Given the description of an element on the screen output the (x, y) to click on. 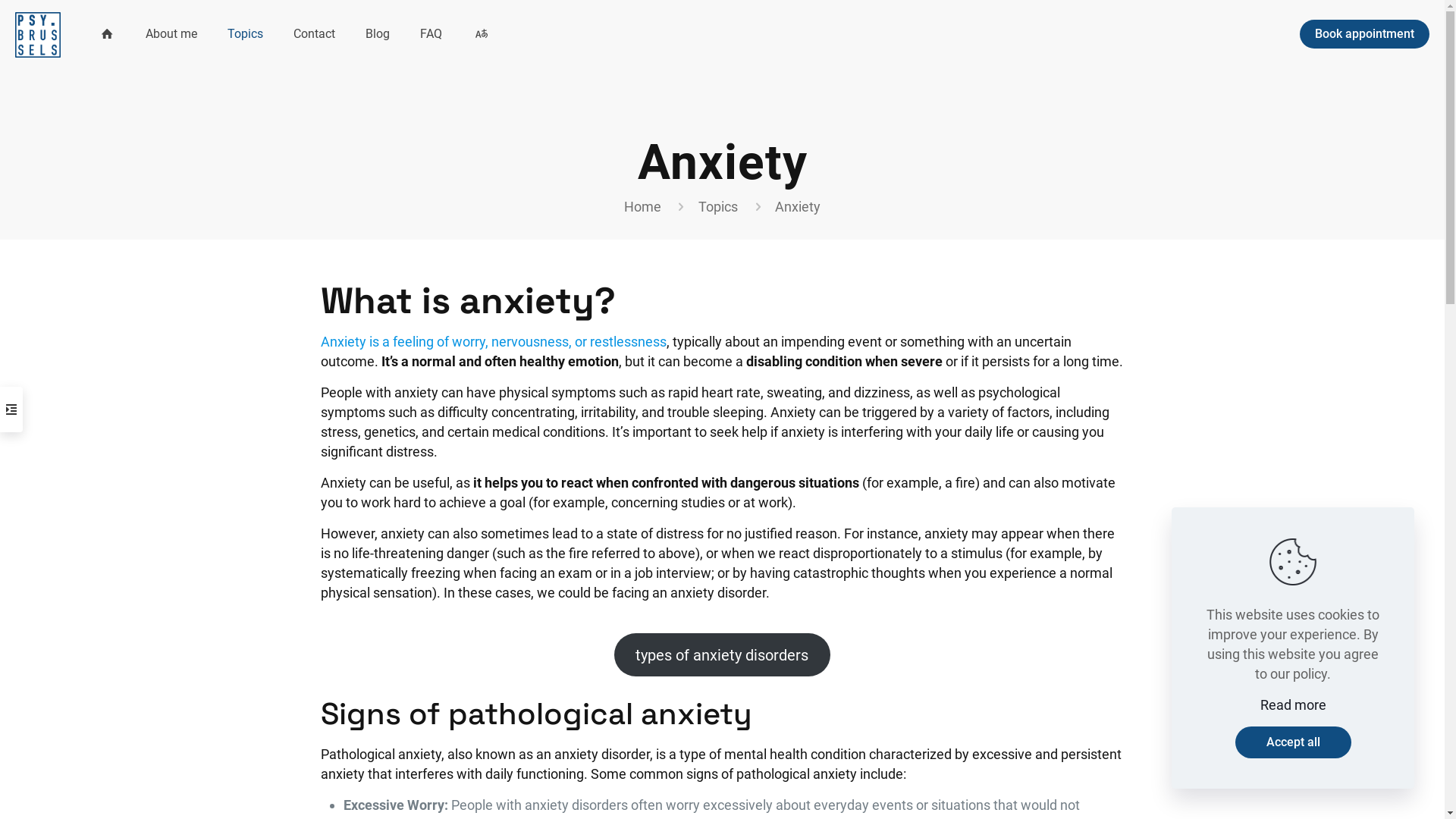
Topics Element type: text (245, 34)
Psy.brussels Element type: hover (37, 34)
Blog Element type: text (377, 34)
Contact Element type: text (314, 34)
FAQ Element type: text (430, 34)
Accept all Element type: text (1292, 742)
Book appointment Element type: text (1364, 33)
Home Element type: text (642, 206)
Topics Element type: text (717, 206)
Read more Element type: text (1293, 705)
types of anxiety disorders Element type: text (722, 654)
About me Element type: text (171, 34)
